Given the description of an element on the screen output the (x, y) to click on. 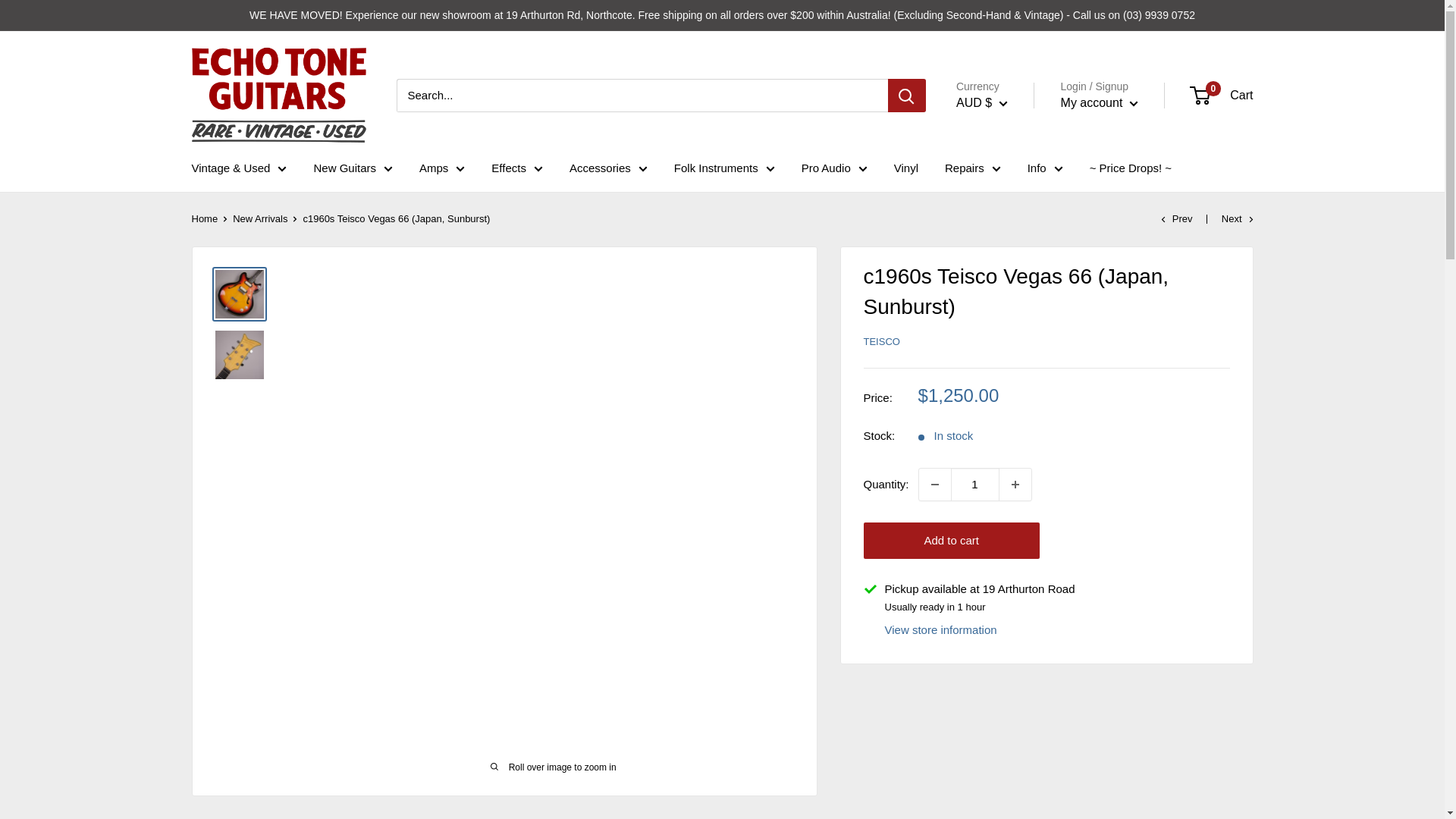
1 (974, 484)
Increase quantity by 1 (1014, 484)
Decrease quantity by 1 (934, 484)
